Given the description of an element on the screen output the (x, y) to click on. 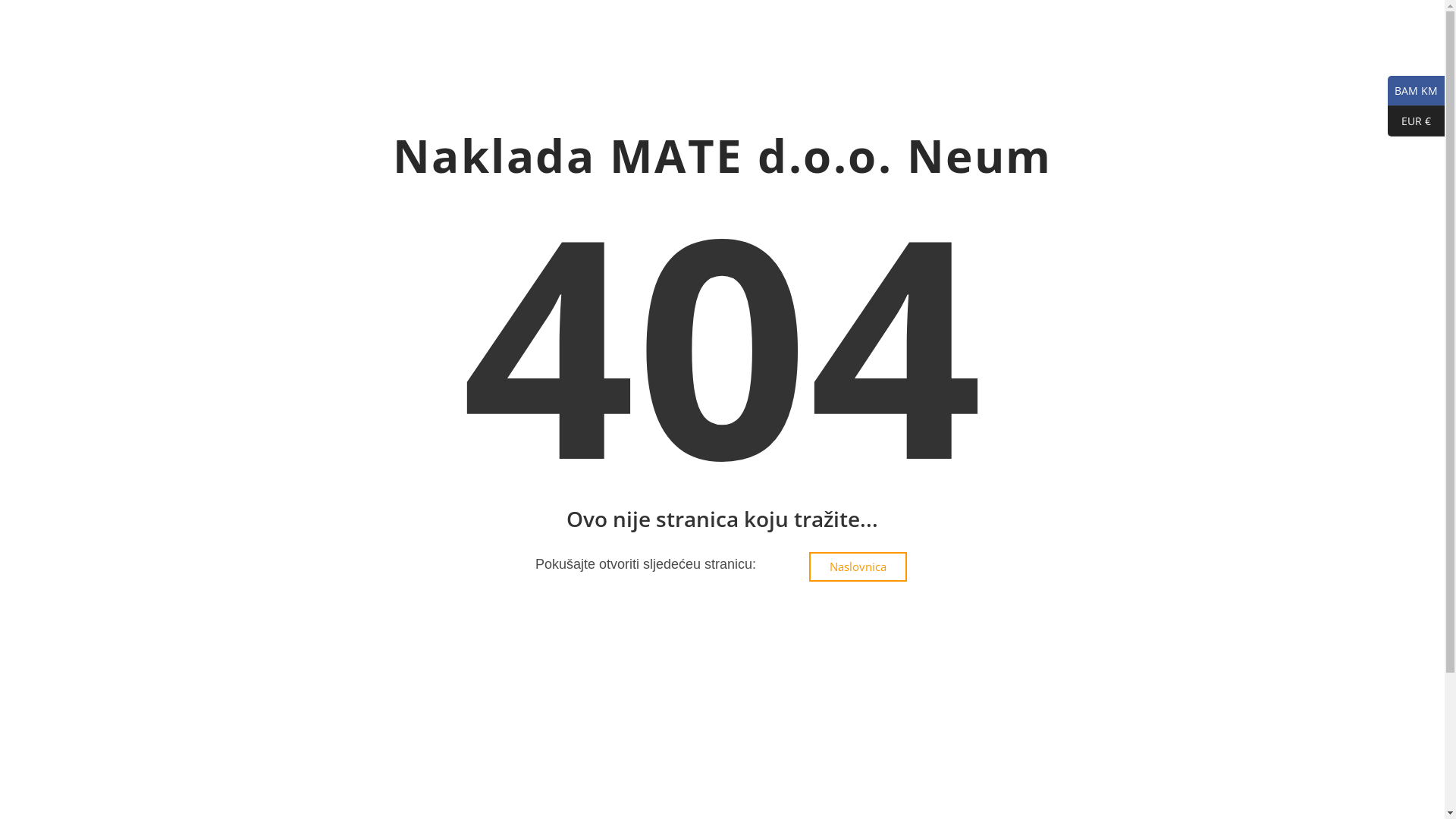
Naslovnica Element type: text (857, 566)
BAM KM Element type: text (1415, 90)
